Given the description of an element on the screen output the (x, y) to click on. 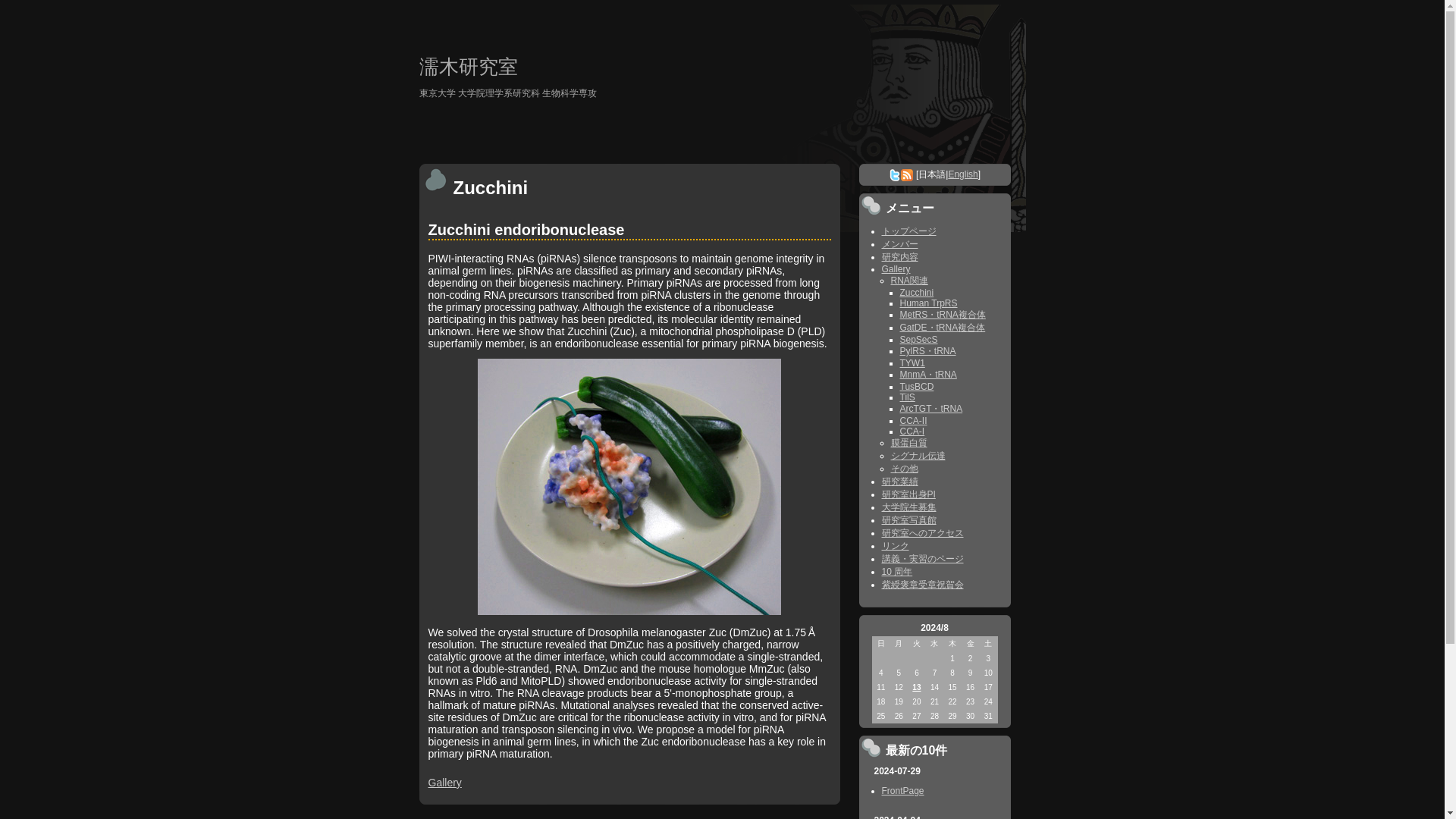
Gallery (895, 268)
English (961, 173)
SepSecS (918, 339)
TYW1 (911, 362)
Zucchini (916, 292)
FrontPage (901, 790)
CCA-I (911, 430)
TusBCD (916, 386)
TilS (906, 397)
Human TrpRS (927, 303)
